Given the description of an element on the screen output the (x, y) to click on. 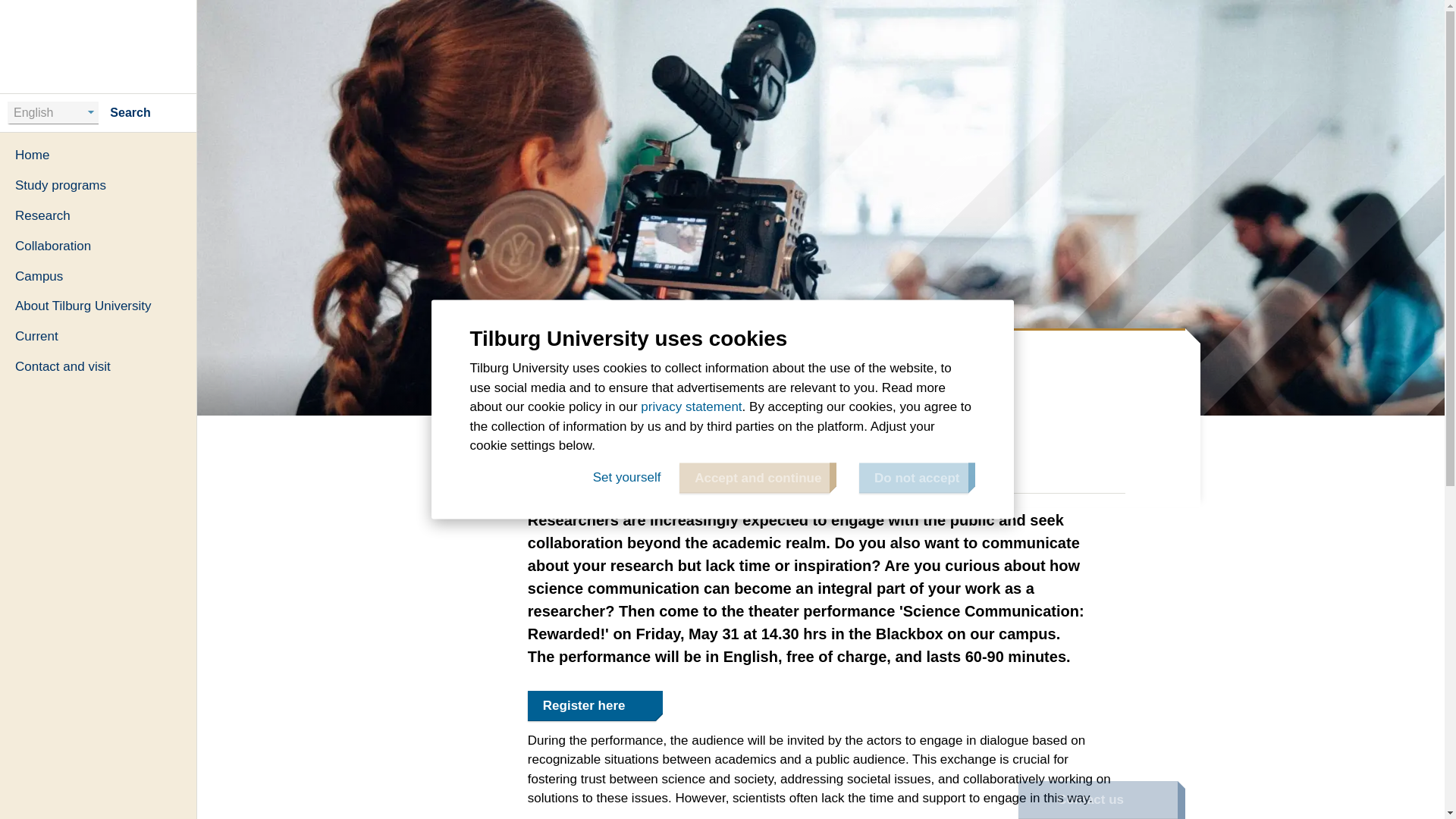
Home (98, 155)
Register here (591, 706)
Home (98, 46)
Study programs (98, 185)
Current (98, 336)
Research (98, 215)
About Tilburg University (98, 306)
Campus (98, 276)
Home (480, 350)
Go to the homepage of (98, 46)
Search (143, 112)
Contact us (1096, 800)
Collaboration (98, 245)
Contact and visit (98, 367)
